Given the description of an element on the screen output the (x, y) to click on. 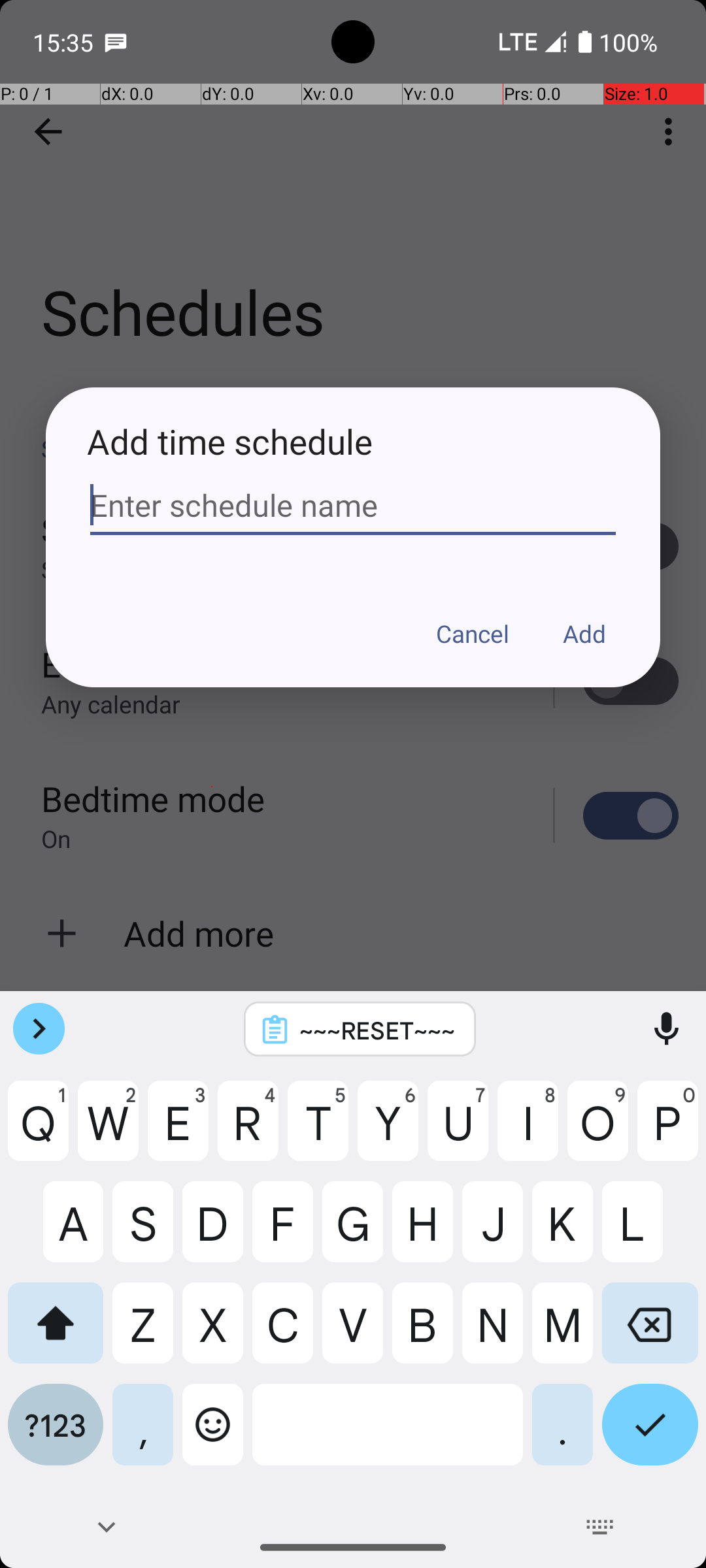
Add time schedule Element type: android.widget.TextView (352, 441)
Enter schedule name Element type: android.widget.EditText (352, 505)
